Given the description of an element on the screen output the (x, y) to click on. 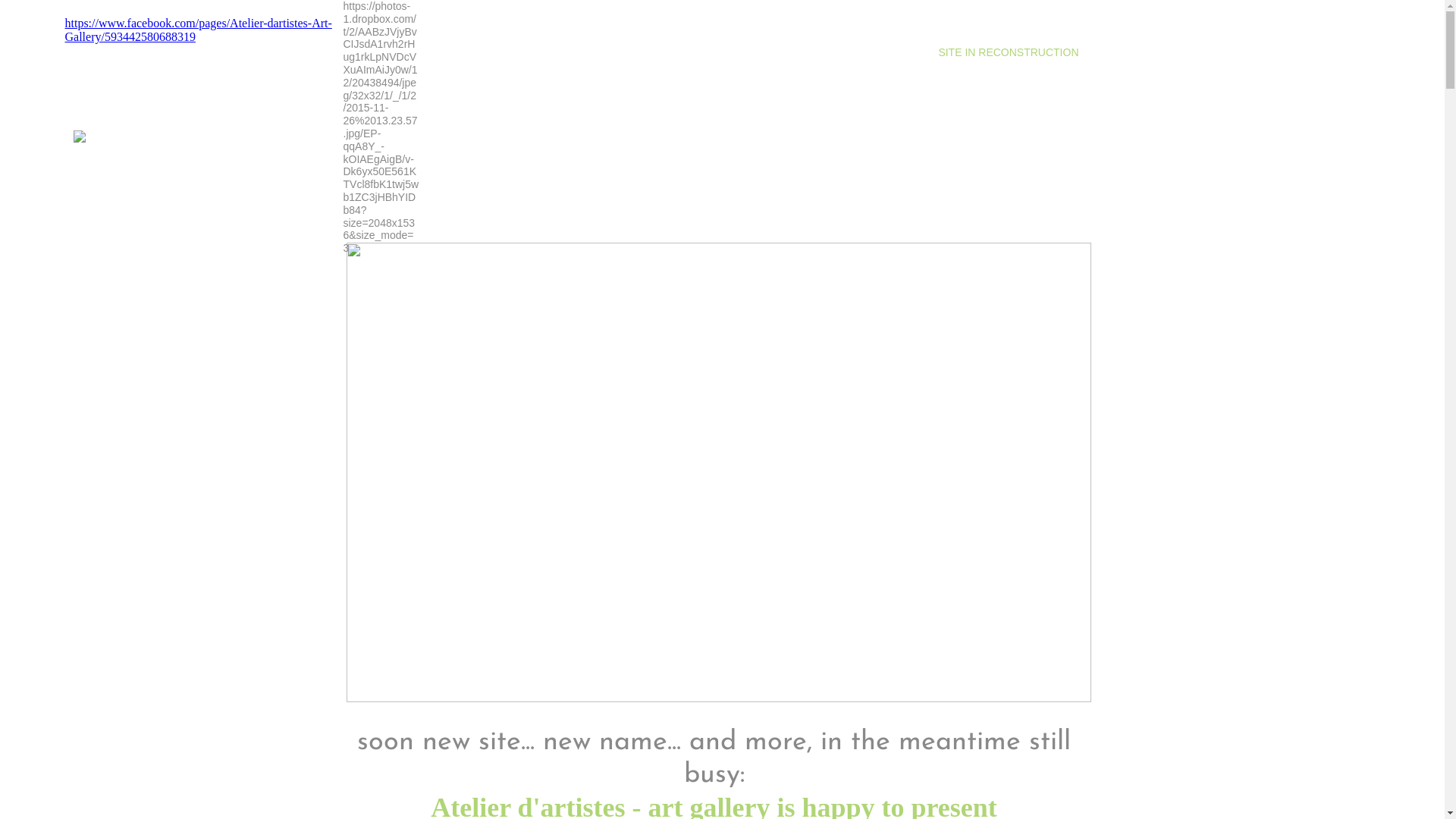
SITE IN RECONSTRUCTION Element type: text (1008, 51)
